Given the description of an element on the screen output the (x, y) to click on. 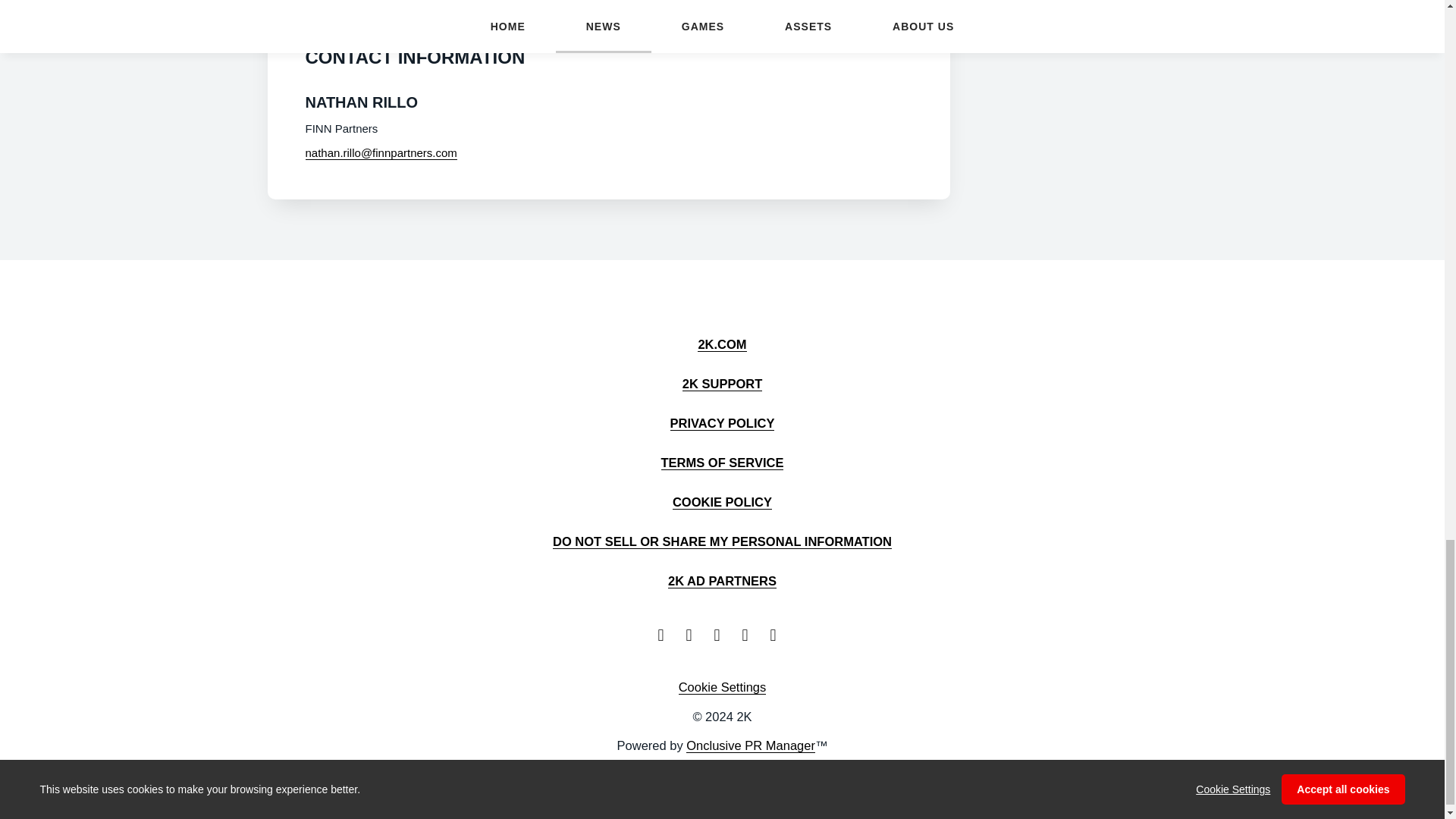
2K AD PARTNERS (722, 580)
Cookie Settings (722, 687)
2K SUPPORT (721, 382)
COOKIE POLICY (721, 501)
Onclusive PR Manager (750, 745)
PRIVACY POLICY (721, 422)
2K AD PARTNERS (722, 580)
DO NOT SELL OR SHARE MY PERSONAL INFORMATION (722, 540)
2K.COM (721, 343)
Twitch (749, 634)
COOKIE POLICY (721, 501)
Instagram (778, 634)
TERMS OF SERVICE (722, 462)
YouTube (722, 634)
Facebook (693, 634)
